Given the description of an element on the screen output the (x, y) to click on. 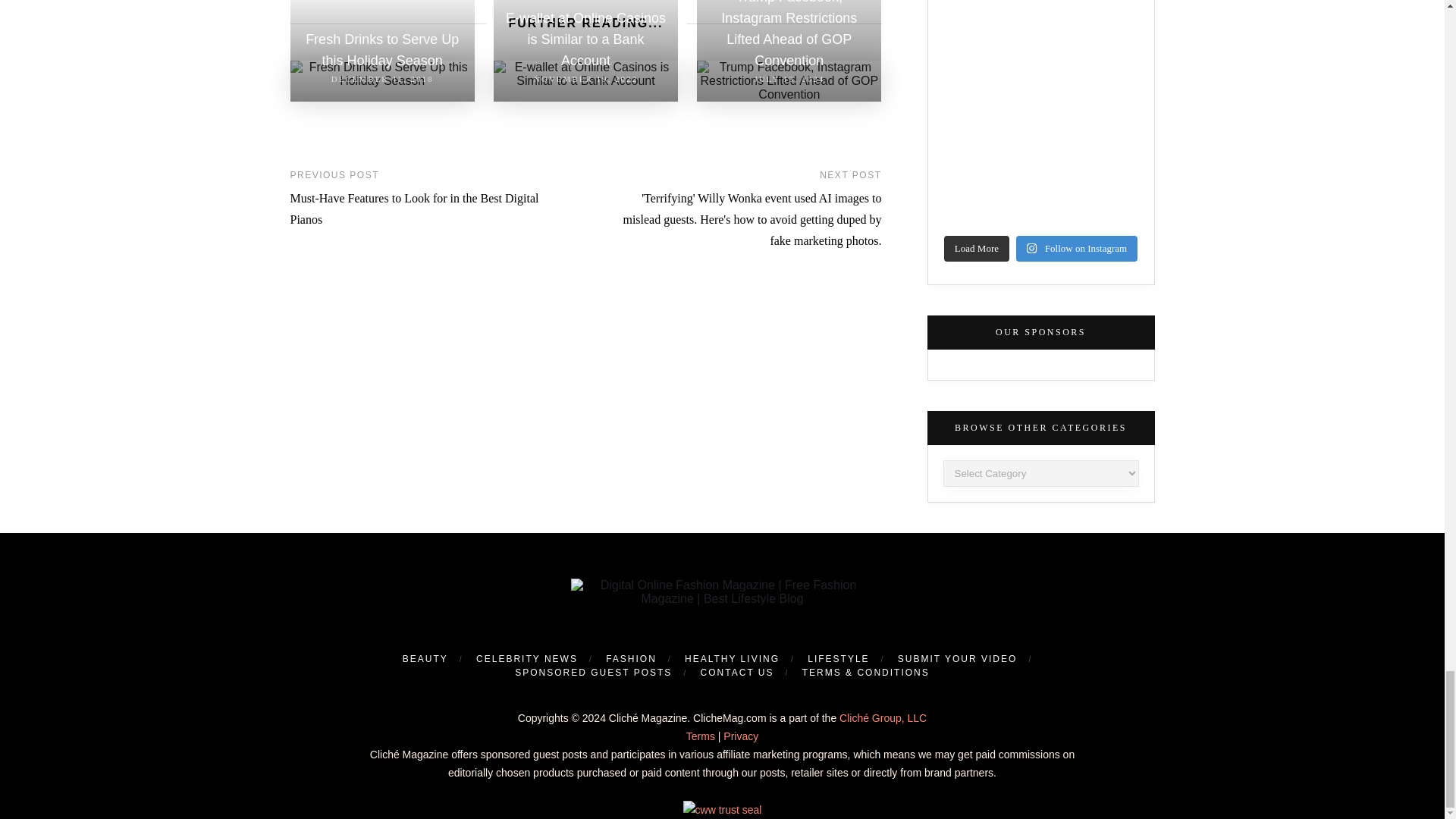
E-wallet at Online Casinos is Similar to a Bank Account (585, 73)
Fresh Drinks to Serve Up this Holiday Season (381, 73)
